Given the description of an element on the screen output the (x, y) to click on. 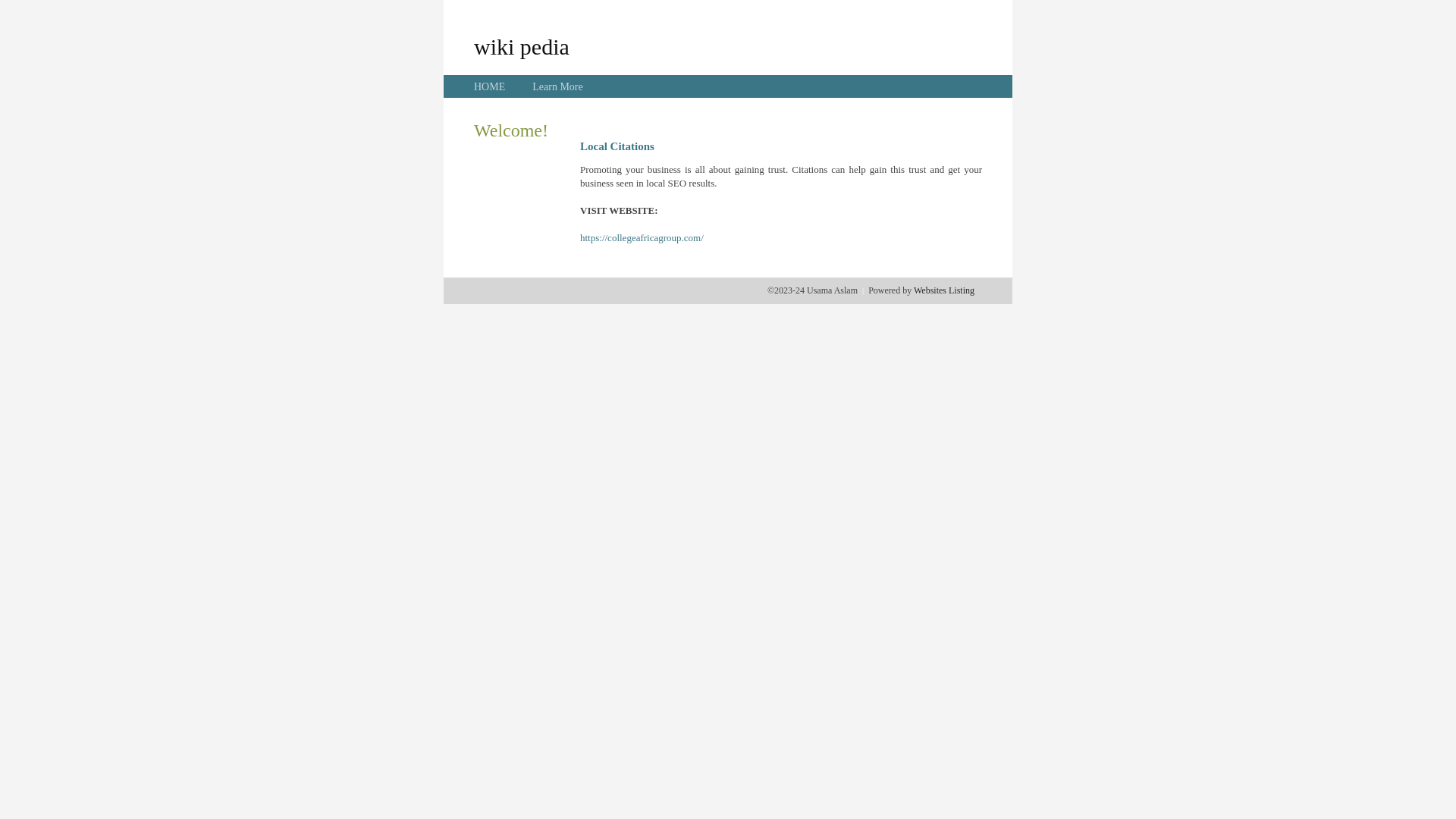
HOME Element type: text (489, 86)
Learn More Element type: text (557, 86)
https://collegeafricagroup.com/ Element type: text (641, 237)
Websites Listing Element type: text (943, 290)
wiki pedia Element type: text (521, 46)
